Given the description of an element on the screen output the (x, y) to click on. 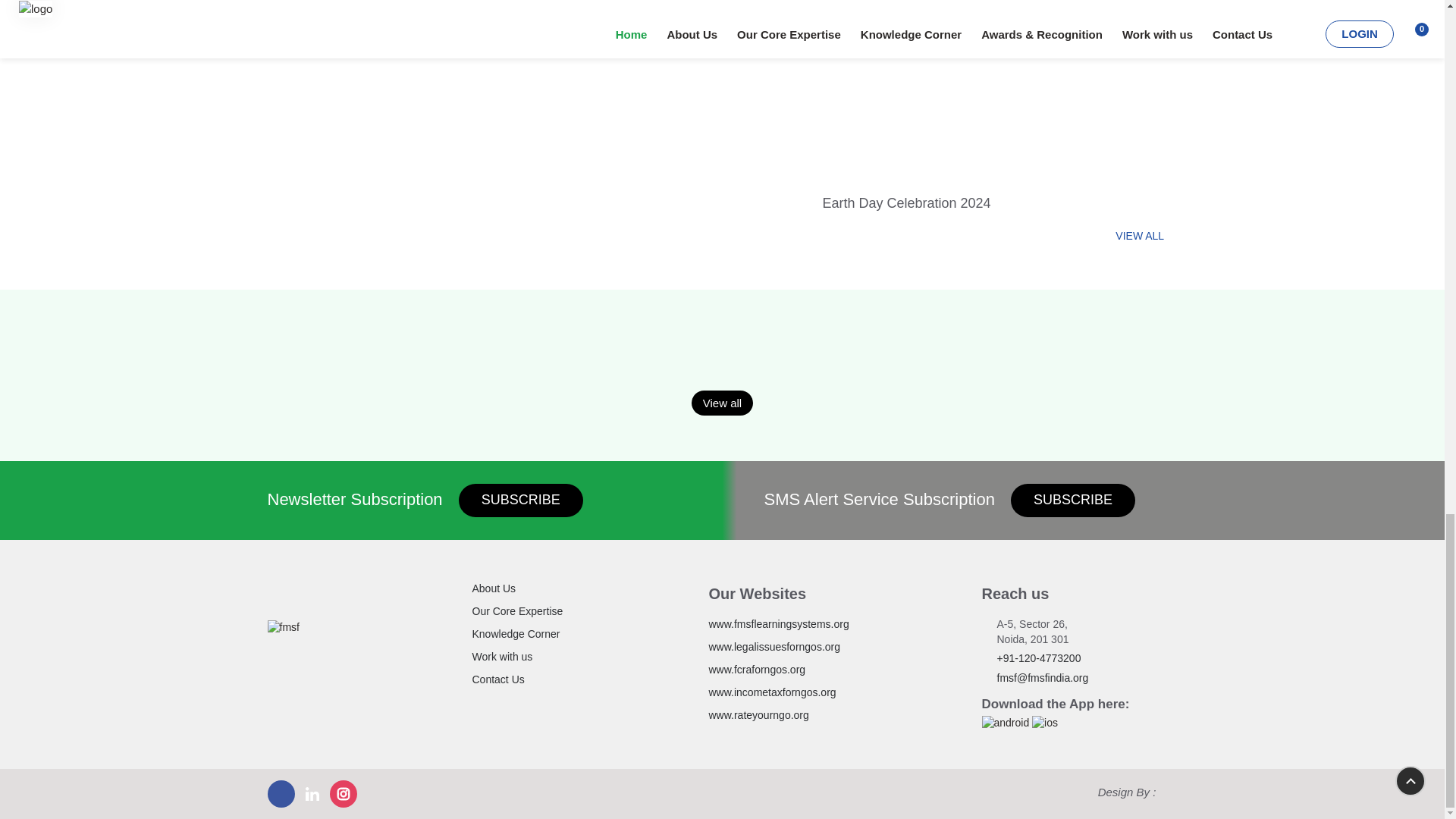
YouTube video player (999, 95)
